Given the description of an element on the screen output the (x, y) to click on. 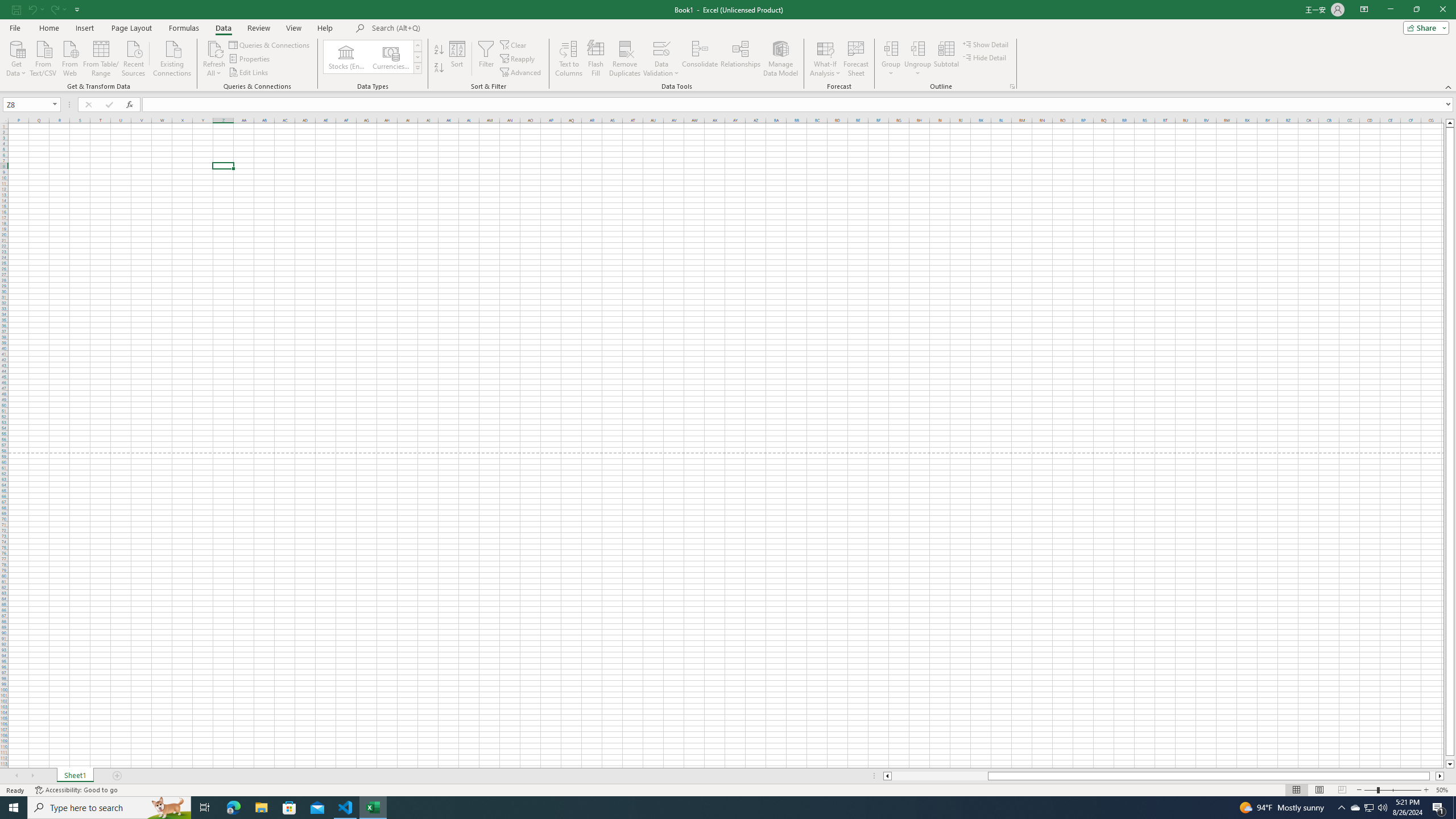
Filter (485, 58)
Remove Duplicates (625, 58)
Manage Data Model (780, 58)
Sort... (456, 58)
Clear (513, 44)
